Given the description of an element on the screen output the (x, y) to click on. 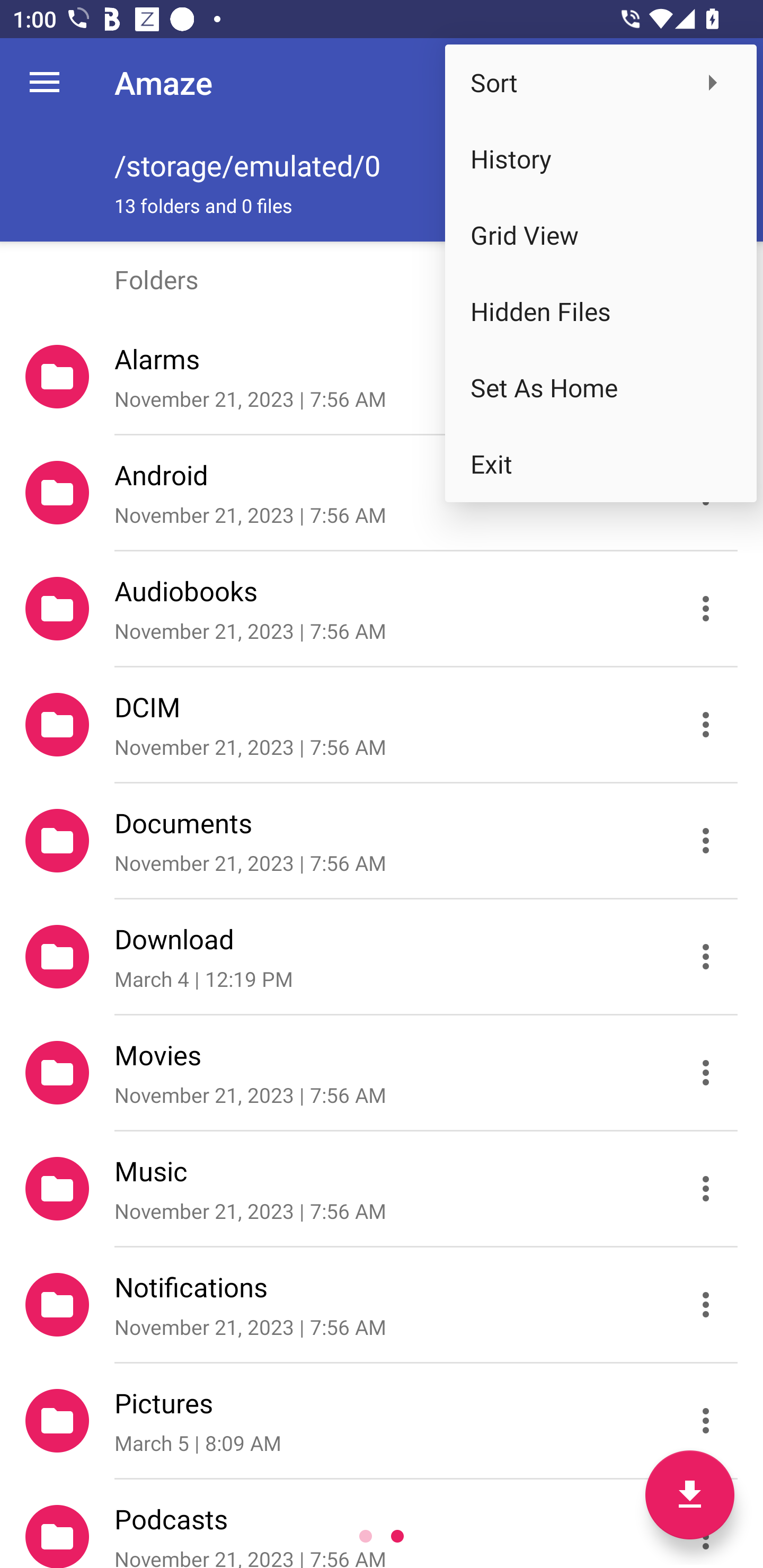
Sort (600, 81)
History (600, 158)
Grid View (600, 234)
Hidden Files (600, 310)
Set As Home (600, 387)
Exit (600, 463)
